Given the description of an element on the screen output the (x, y) to click on. 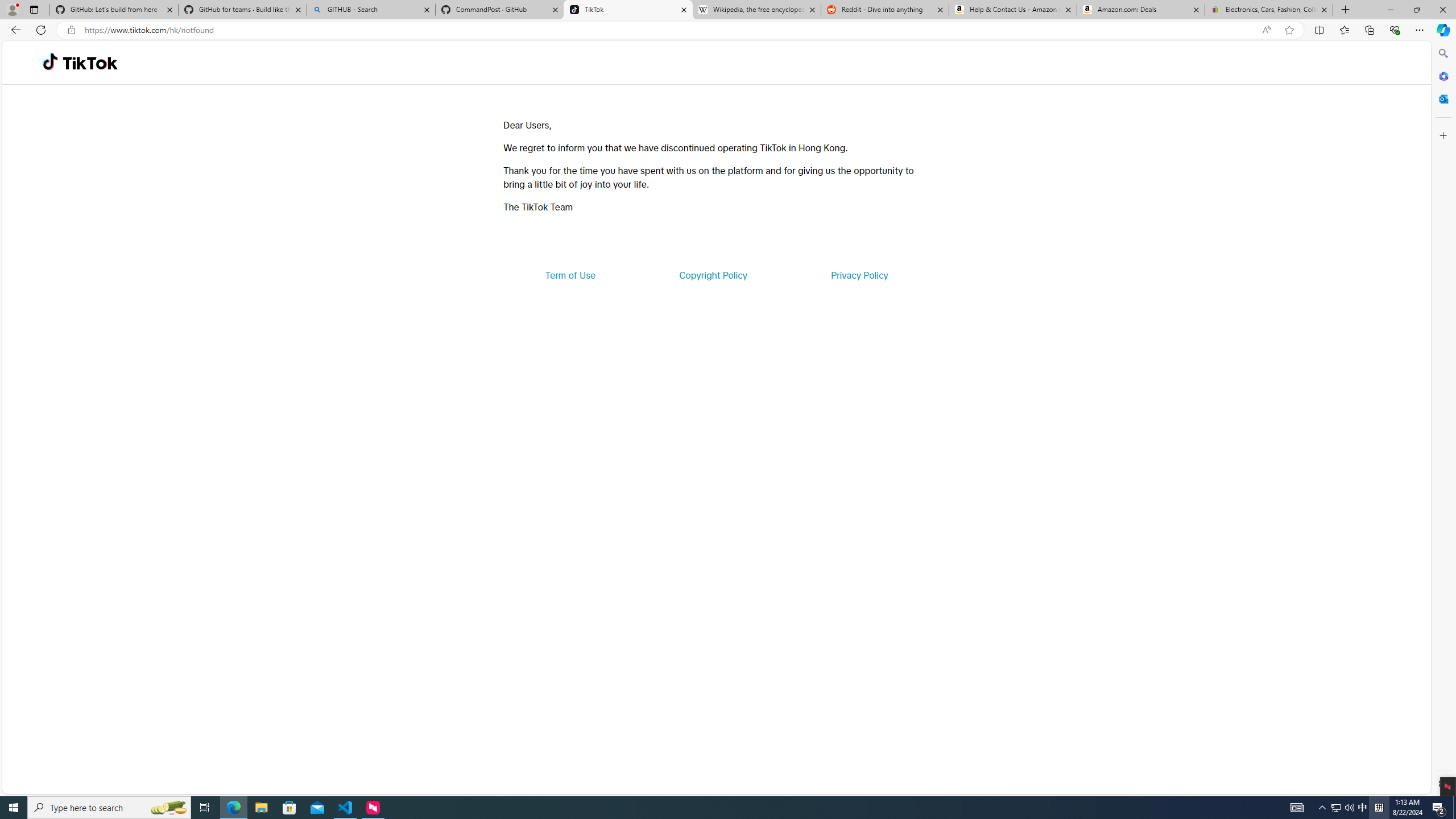
Privacy Policy (858, 274)
Wikipedia, the free encyclopedia (756, 9)
